Given the description of an element on the screen output the (x, y) to click on. 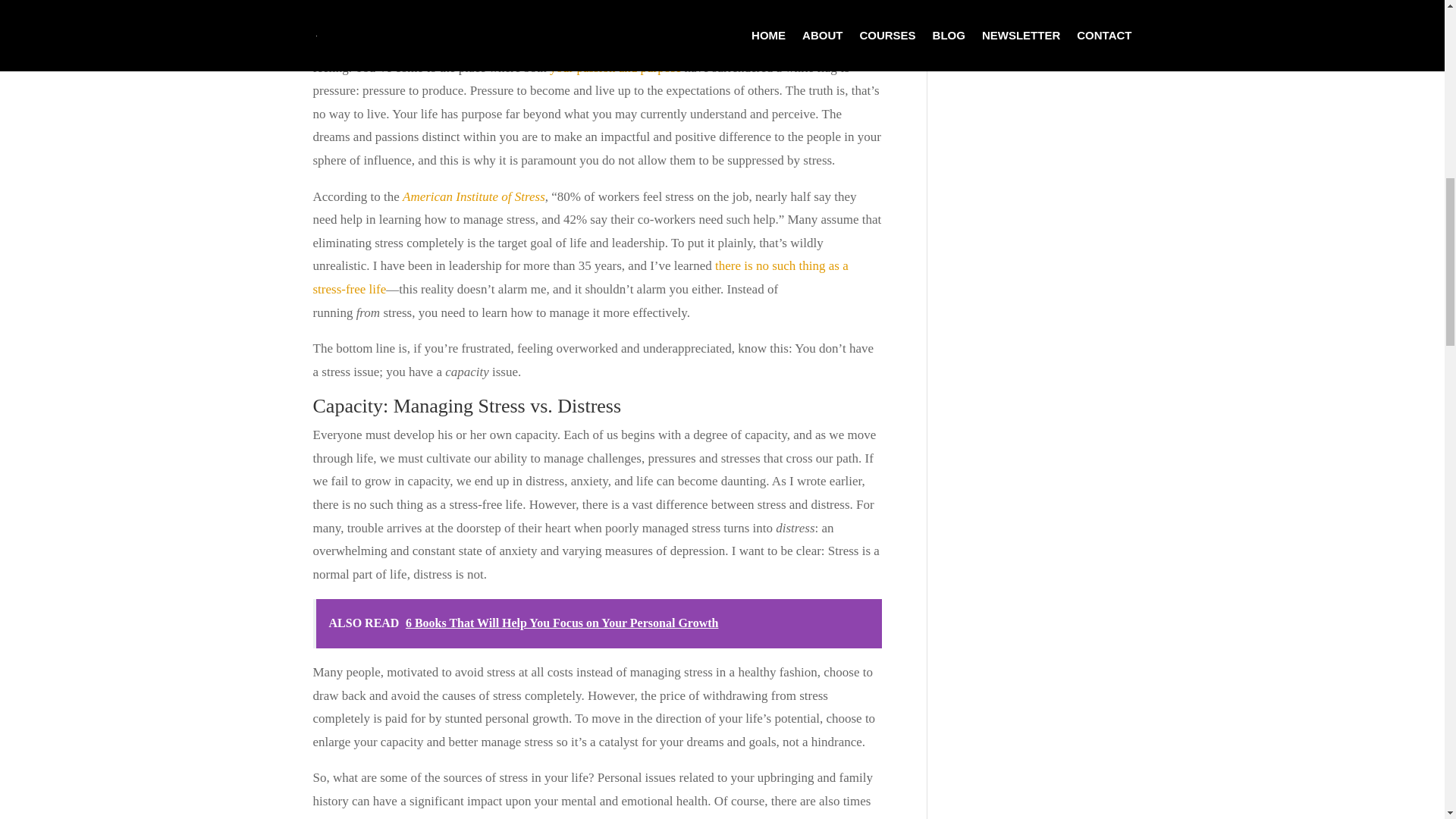
your passion and purpose (615, 67)
there is no such thing as a stress-free life (580, 277)
American Institute of Stress (473, 196)
